Given the description of an element on the screen output the (x, y) to click on. 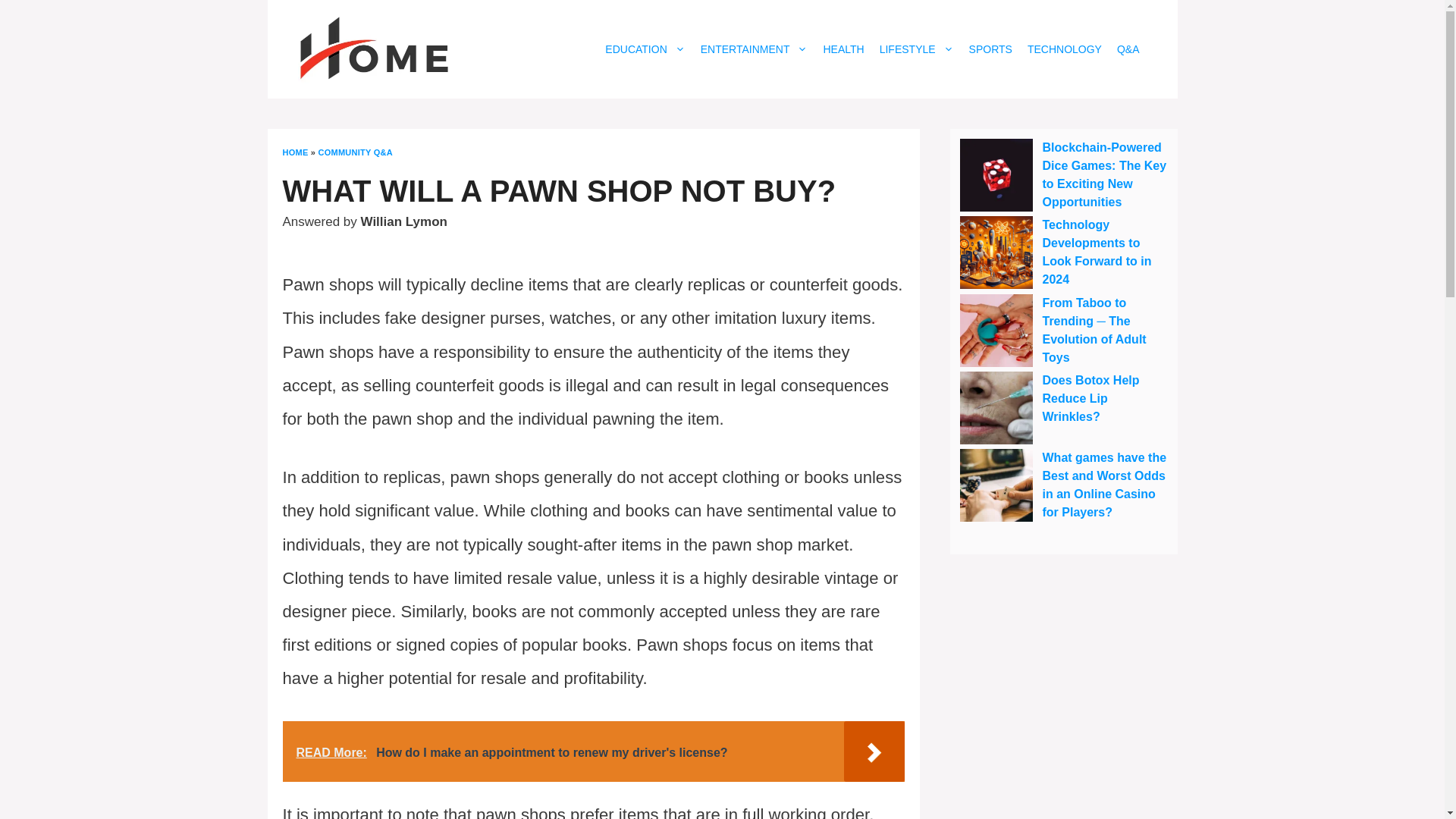
Technology Developments to Look Forward to in 2024 2 (995, 252)
Does Botox Help Reduce Lip Wrinkles? 4 (995, 407)
TECHNOLOGY (1064, 48)
LIFESTYLE (916, 48)
HEALTH (842, 48)
SPORTS (990, 48)
ENTERTAINMENT (754, 48)
EDUCATION (644, 48)
